Given the description of an element on the screen output the (x, y) to click on. 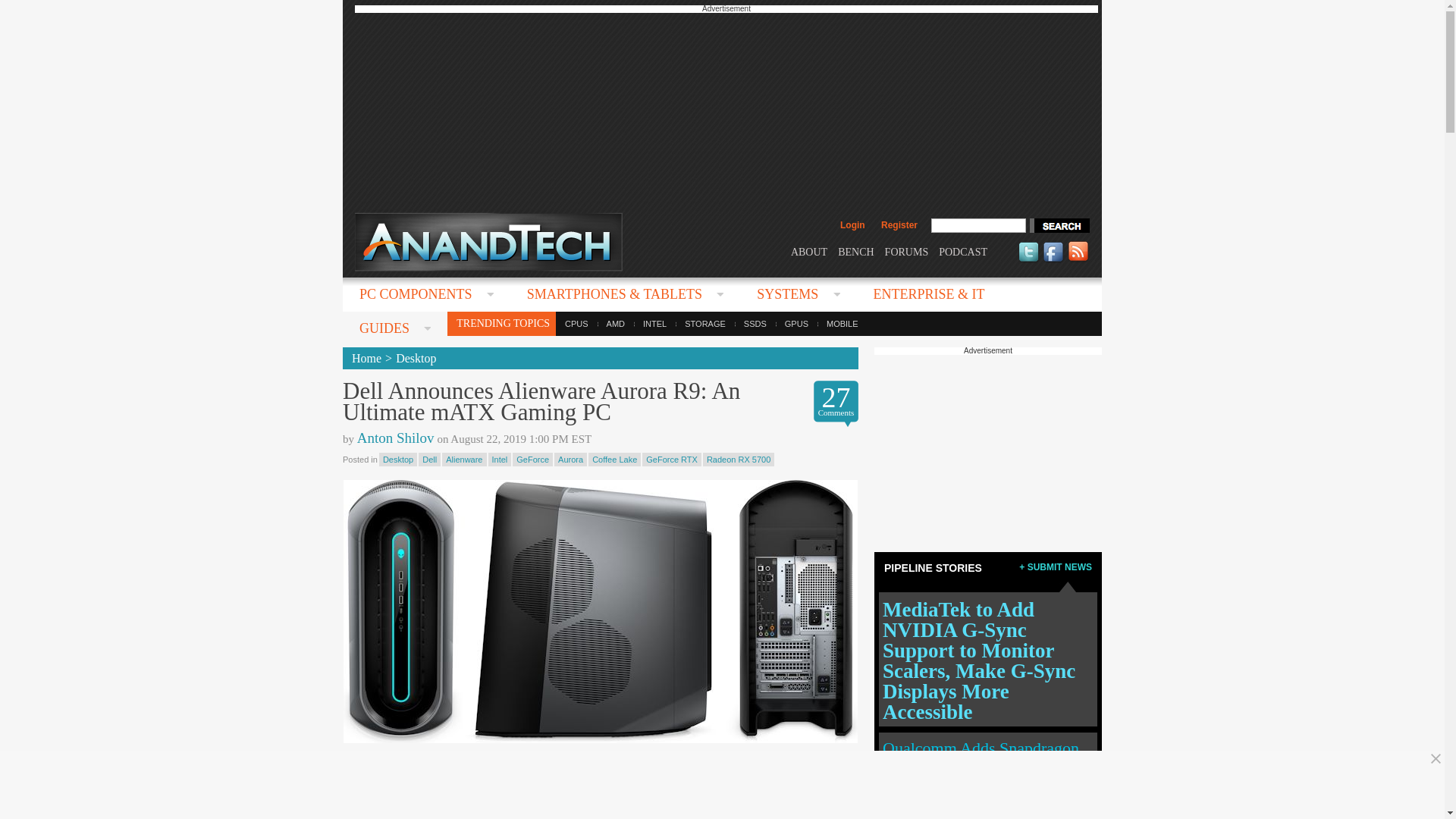
Register (898, 225)
search (1059, 225)
Login (852, 225)
search (1059, 225)
BENCH (855, 251)
FORUMS (906, 251)
search (1059, 225)
PODCAST (963, 251)
ABOUT (808, 251)
